Given the description of an element on the screen output the (x, y) to click on. 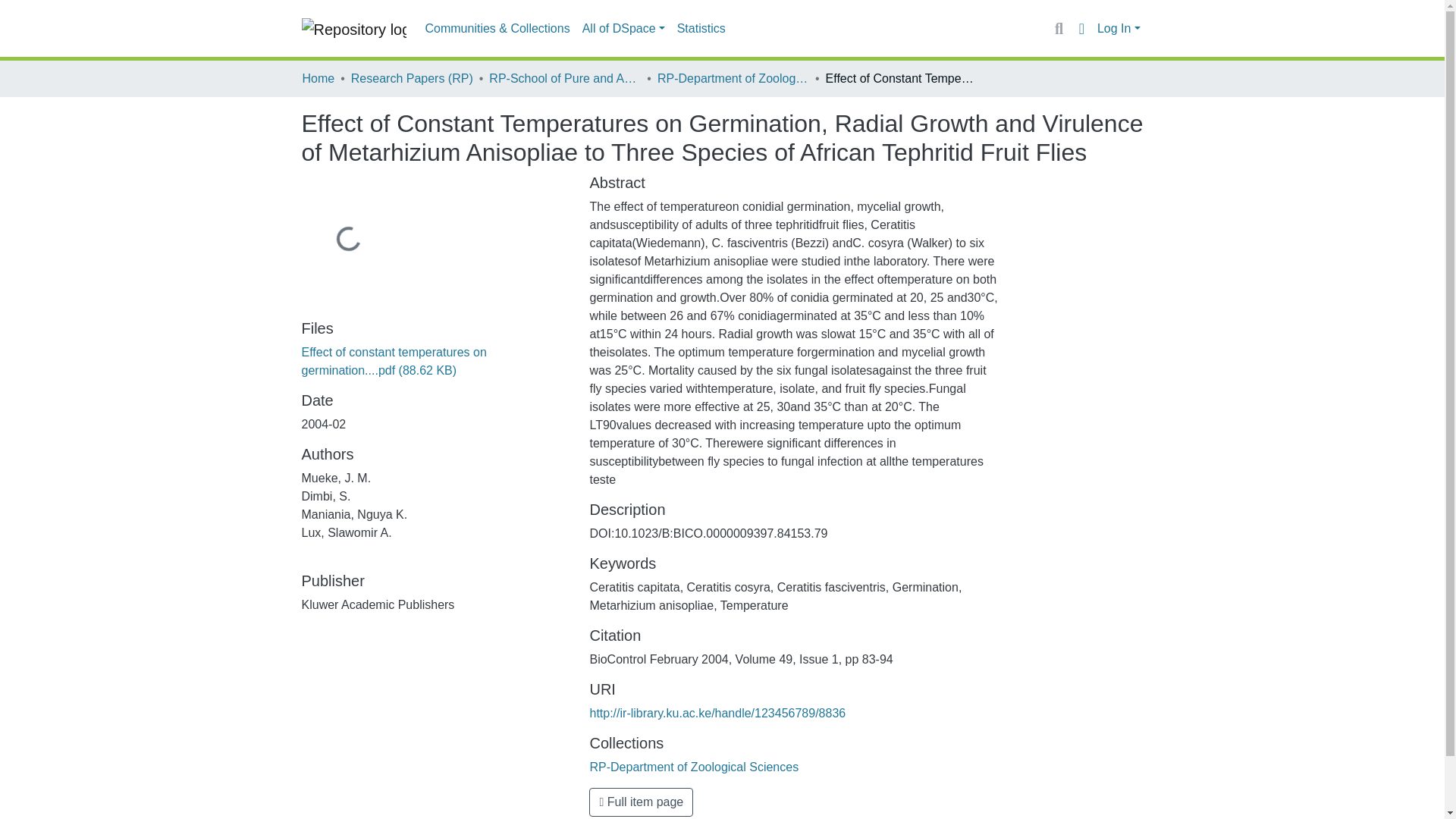
Home (317, 78)
RP-Department of Zoological Sciences (733, 78)
Statistics (701, 28)
RP-Department of Zoological Sciences (693, 766)
Statistics (701, 28)
Log In (1118, 28)
RP-School of Pure and Applied Sciences (564, 78)
Language switch (1081, 28)
All of DSpace (623, 28)
Full item page (641, 801)
